Given the description of an element on the screen output the (x, y) to click on. 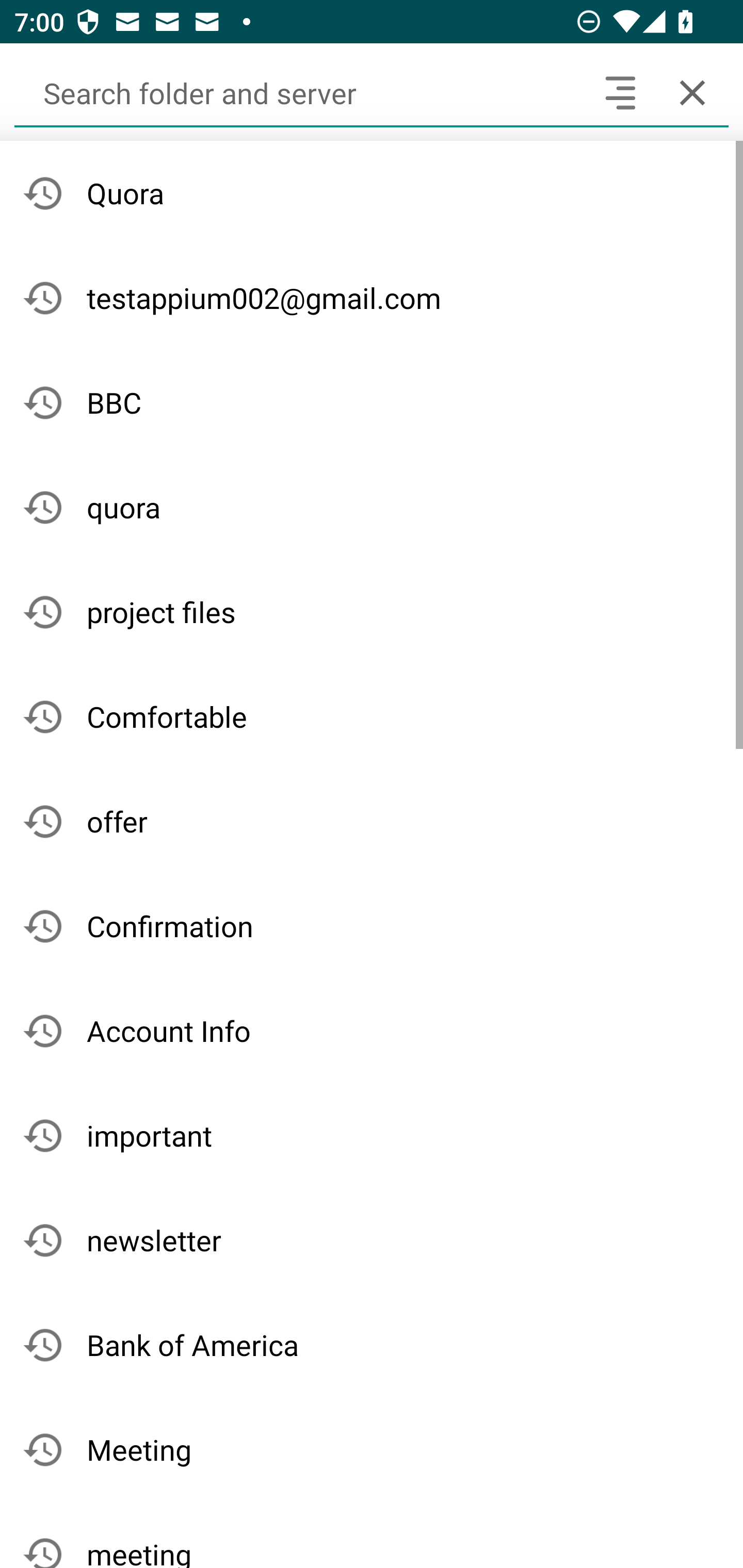
   Search folder and server (298, 92)
Search headers and text (619, 92)
Cancel (692, 92)
